Given the description of an element on the screen output the (x, y) to click on. 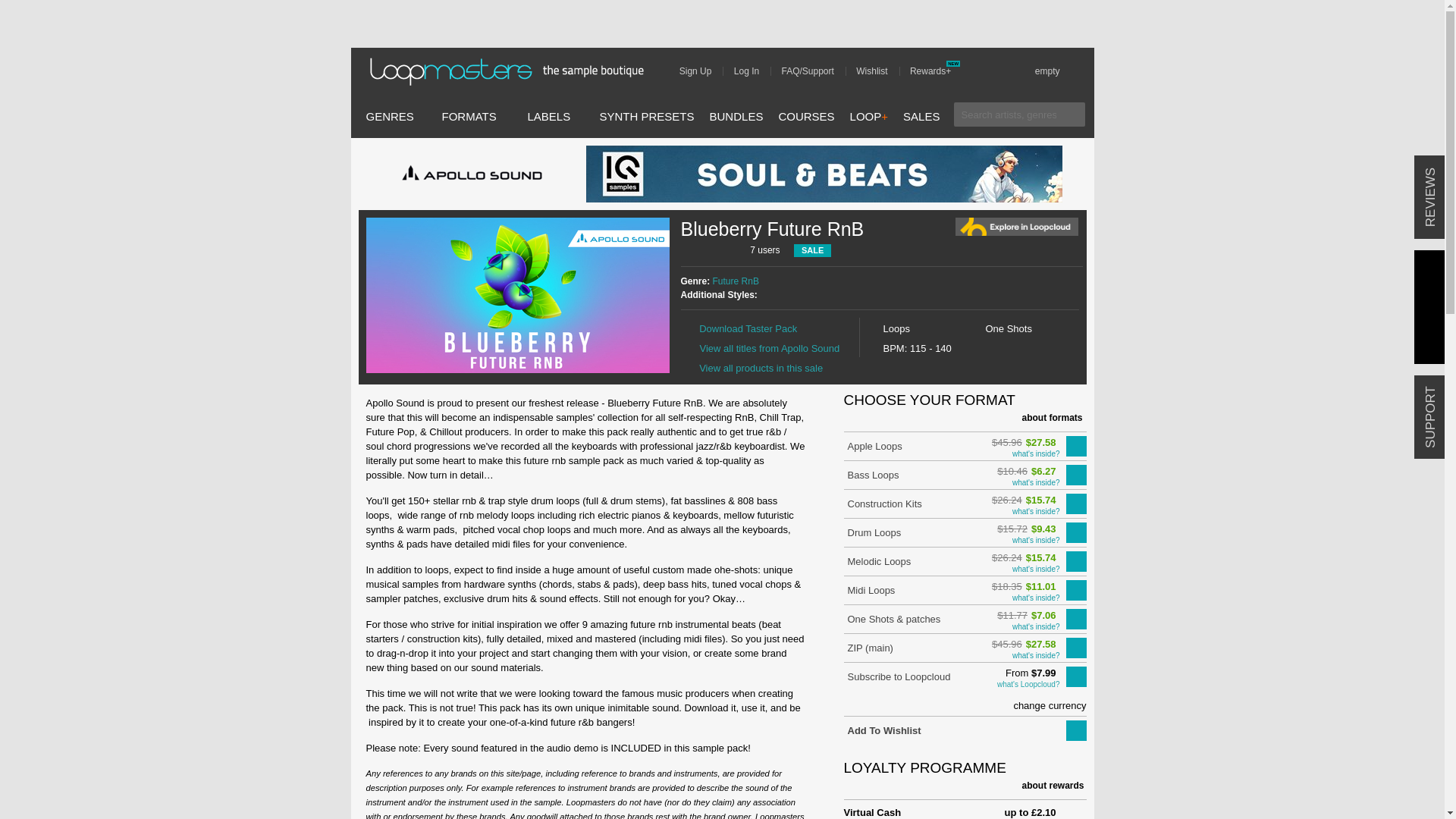
GENRES (389, 115)
Log In (752, 71)
Show all genres (389, 115)
Sign Up (701, 71)
Support and frequently questioned answers (812, 71)
Wishlist (877, 71)
Log In (752, 71)
Loopmasters - the sample boutique (511, 71)
Sign Up (701, 71)
Wishlist (877, 71)
